Given the description of an element on the screen output the (x, y) to click on. 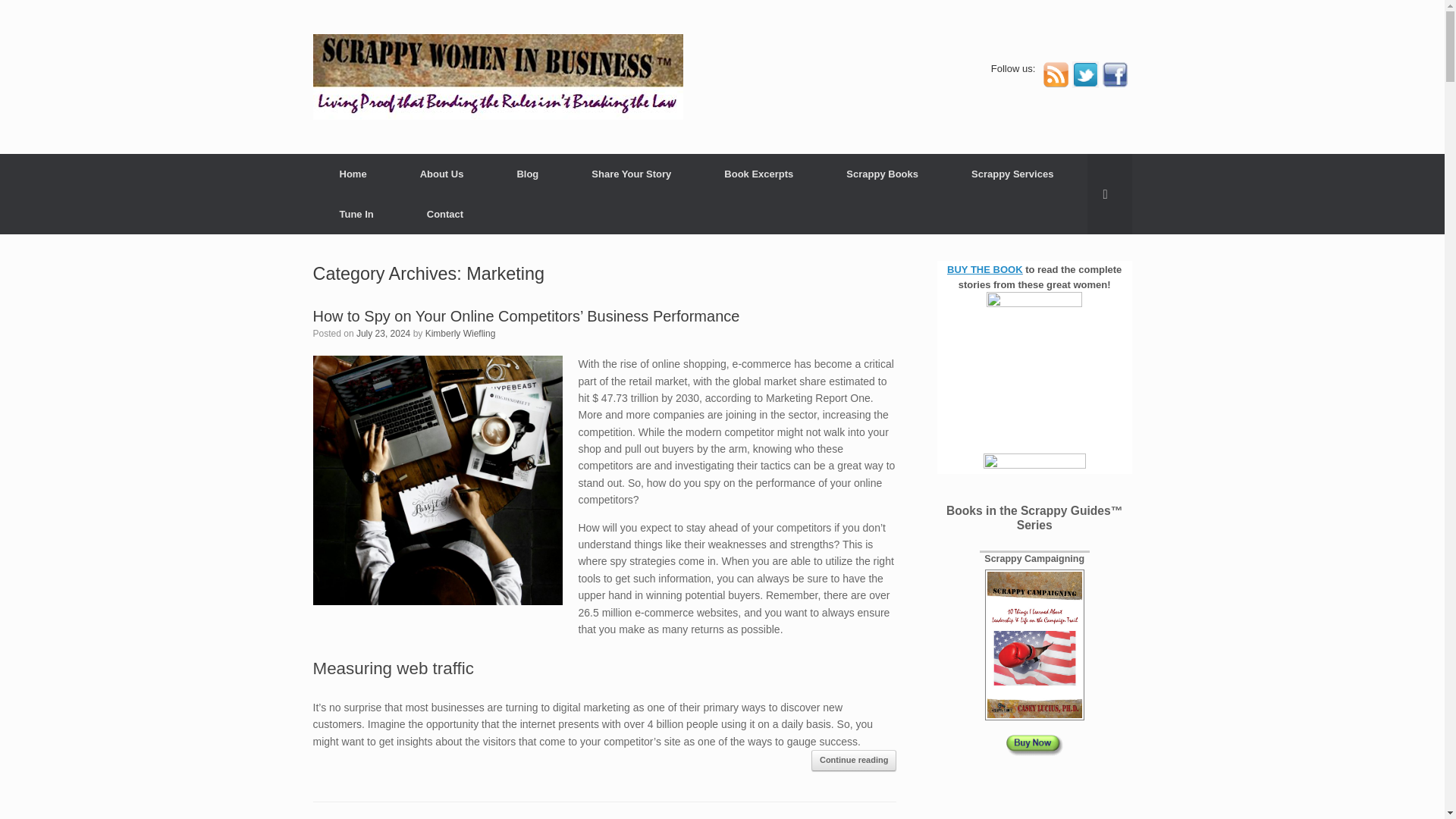
Subscribe to our feed (1055, 84)
Home (353, 173)
Follow us on twitter (1085, 84)
Scrappy Women in Business (497, 76)
View all posts by Kimberly Wiefling (460, 333)
Share Your Story (630, 173)
About Us (441, 173)
Scrappy Books (881, 173)
Connect on Facebook (1113, 84)
Book Excerpts (758, 173)
